Given the description of an element on the screen output the (x, y) to click on. 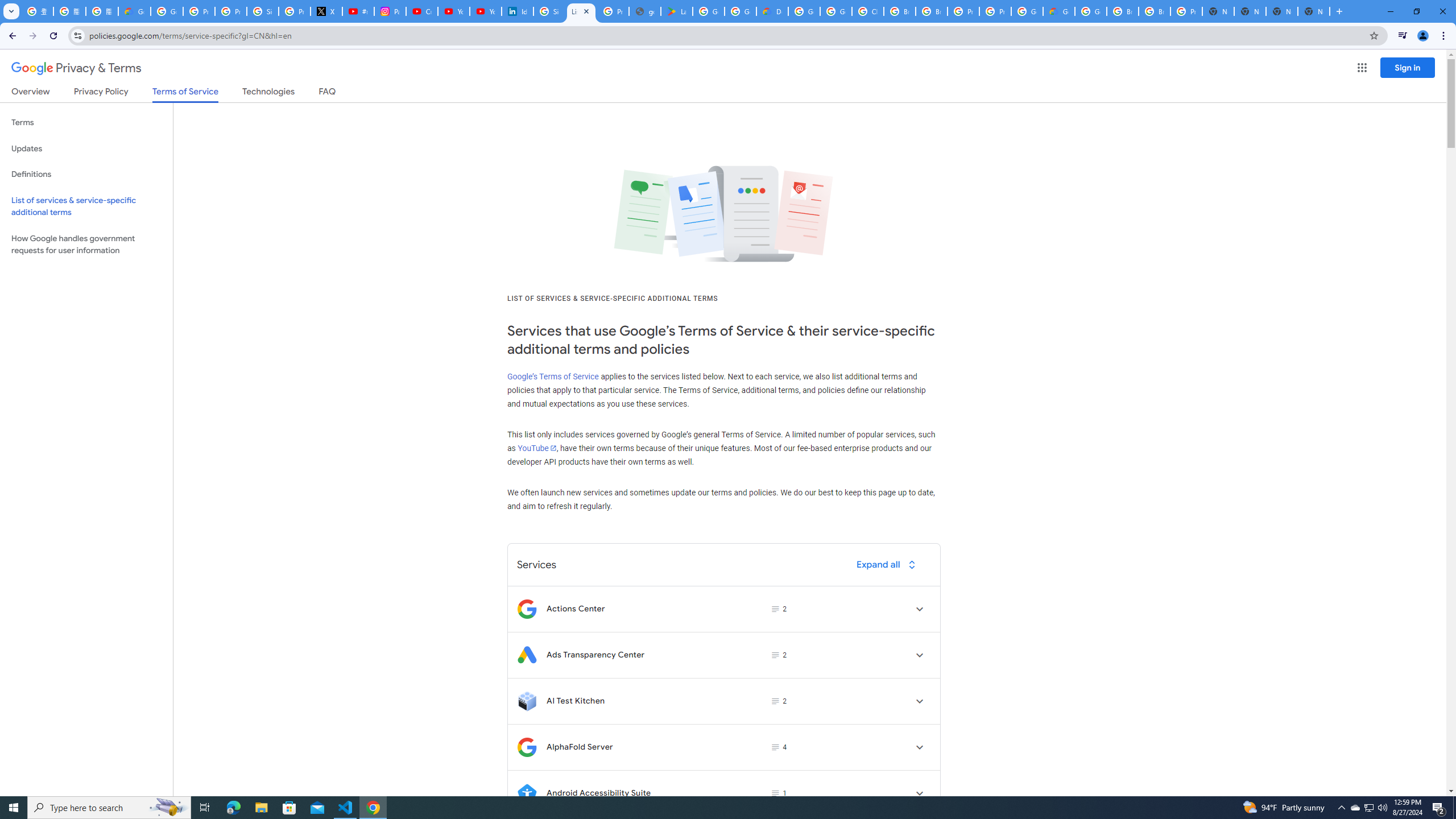
YouTube Culture & Trends - YouTube Top 10, 2021 (485, 11)
Google Workspace - Specific Terms (740, 11)
